Given the description of an element on the screen output the (x, y) to click on. 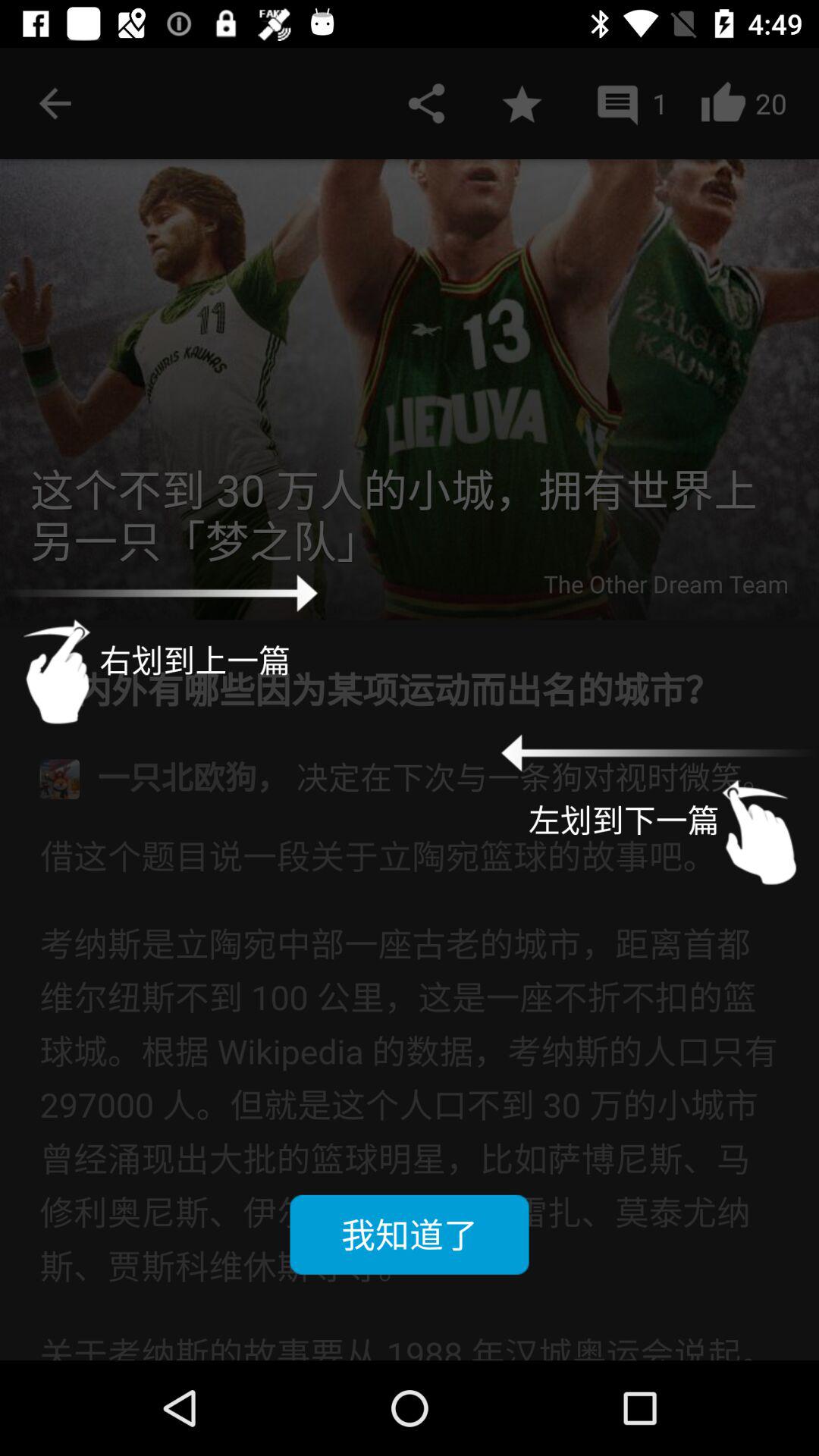
share the article (426, 103)
